Given the description of an element on the screen output the (x, y) to click on. 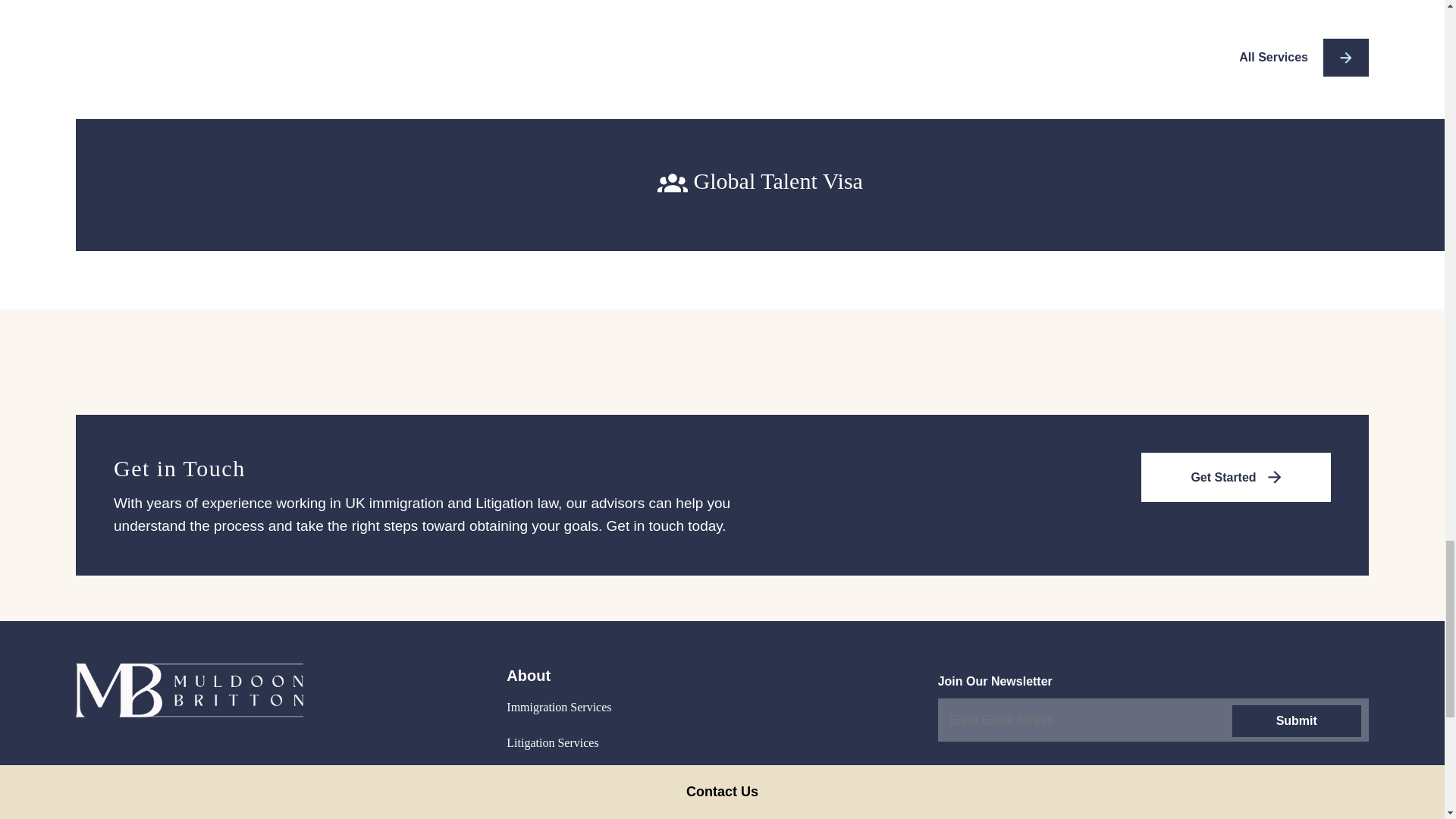
Submit (1295, 716)
All Services (1303, 57)
Global Talent Visa (759, 181)
